Given the description of an element on the screen output the (x, y) to click on. 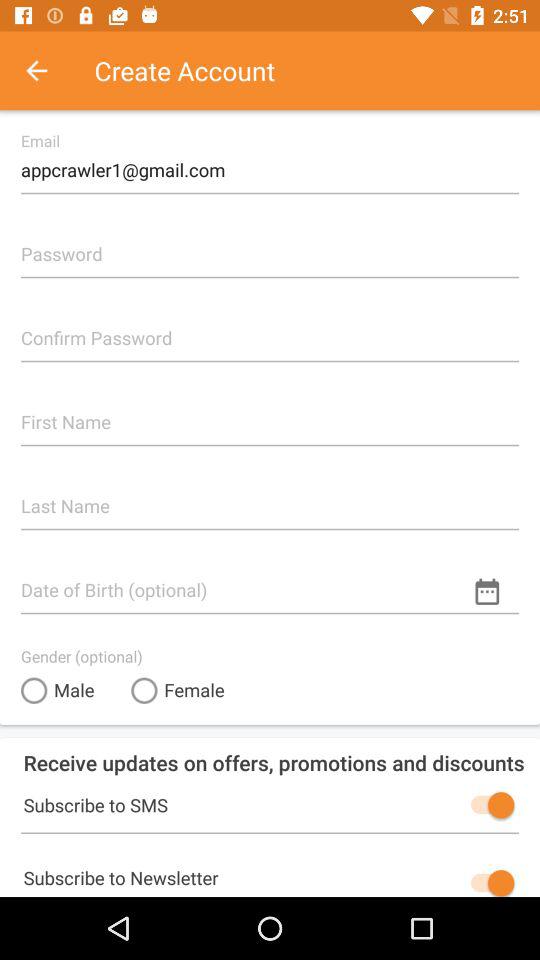
first name (270, 413)
